Given the description of an element on the screen output the (x, y) to click on. 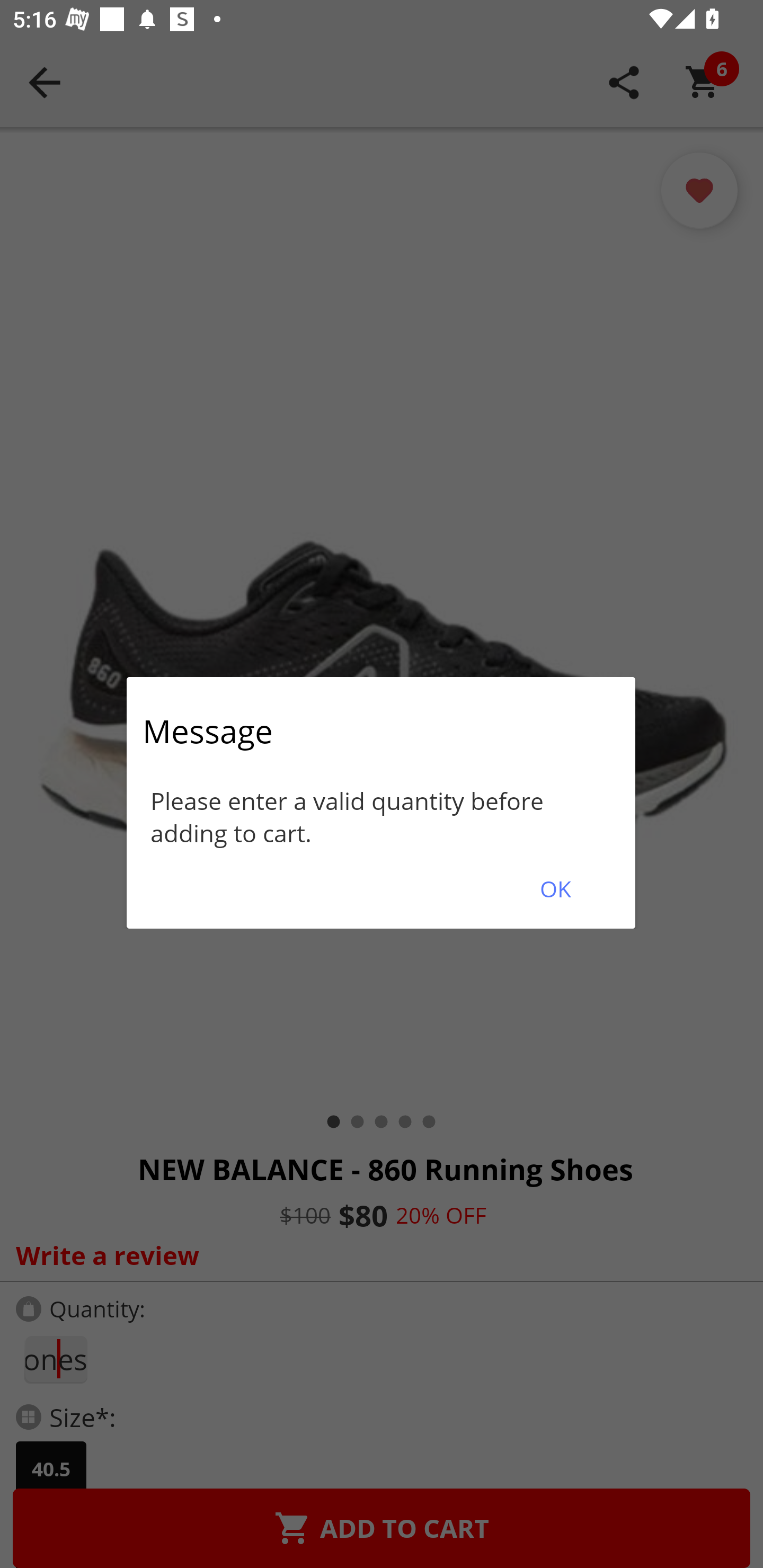
OK (555, 888)
